Given the description of an element on the screen output the (x, y) to click on. 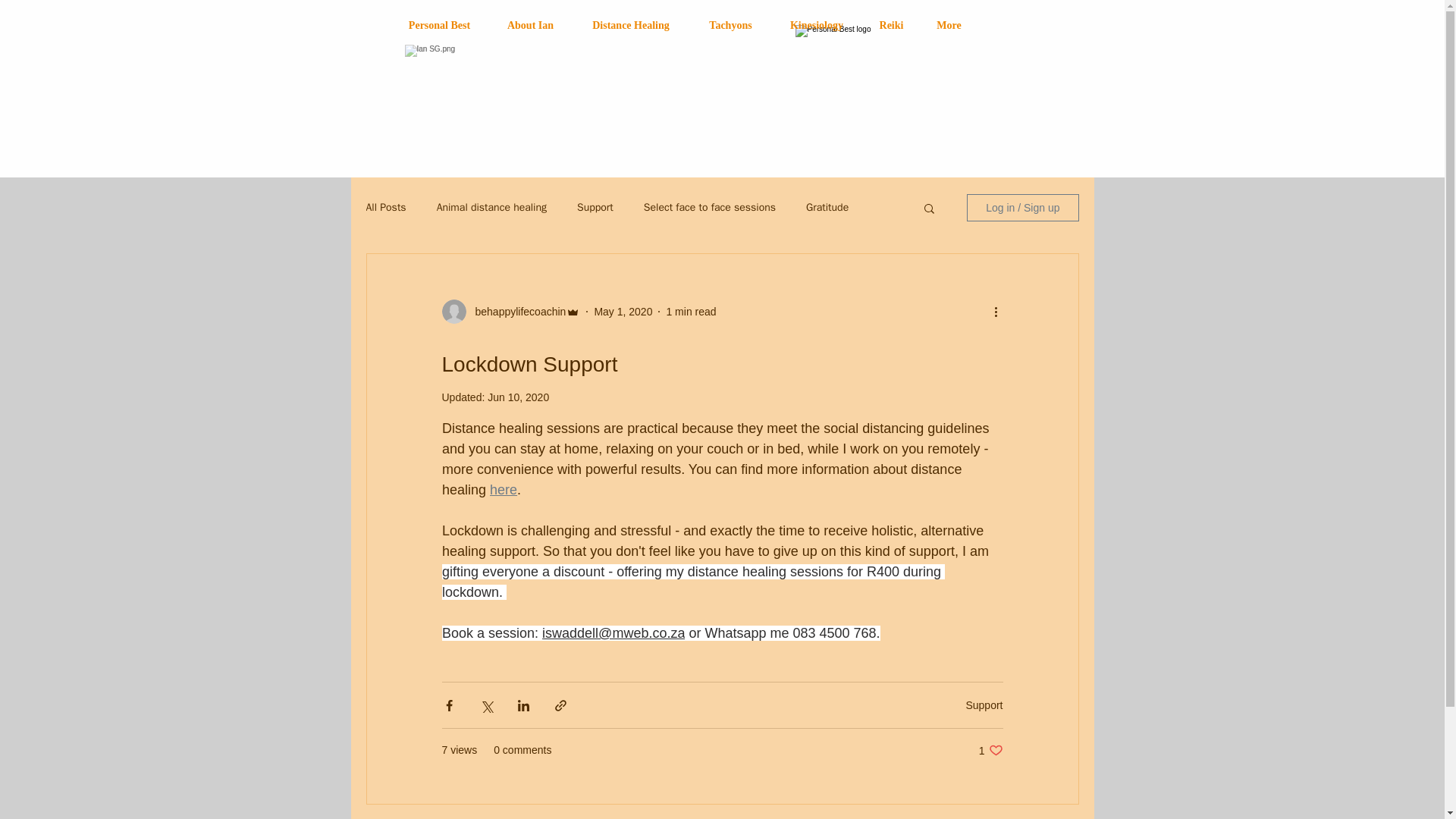
Distance Healing (631, 25)
here (502, 489)
All Posts (385, 207)
Jun 10, 2020 (517, 397)
Animal distance healing (491, 207)
Kinesiology (815, 25)
behappylifecoachin (515, 311)
1 min read (990, 749)
May 1, 2020 (690, 310)
Select face to face sessions (623, 310)
Tachyons (709, 207)
About Ian (730, 25)
Personal Best (530, 25)
Support (439, 25)
